Given the description of an element on the screen output the (x, y) to click on. 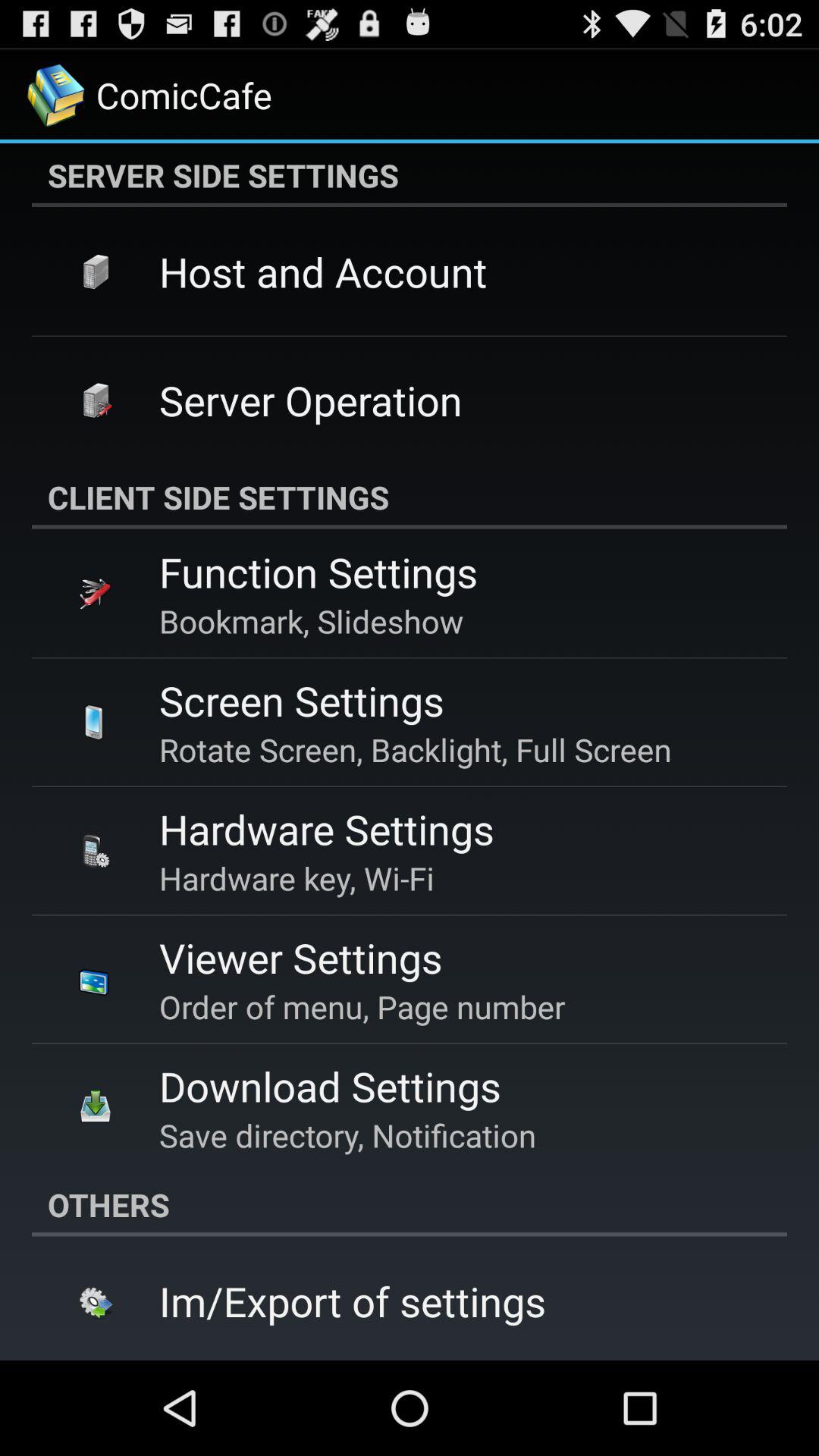
select the server operation item (310, 399)
